Given the description of an element on the screen output the (x, y) to click on. 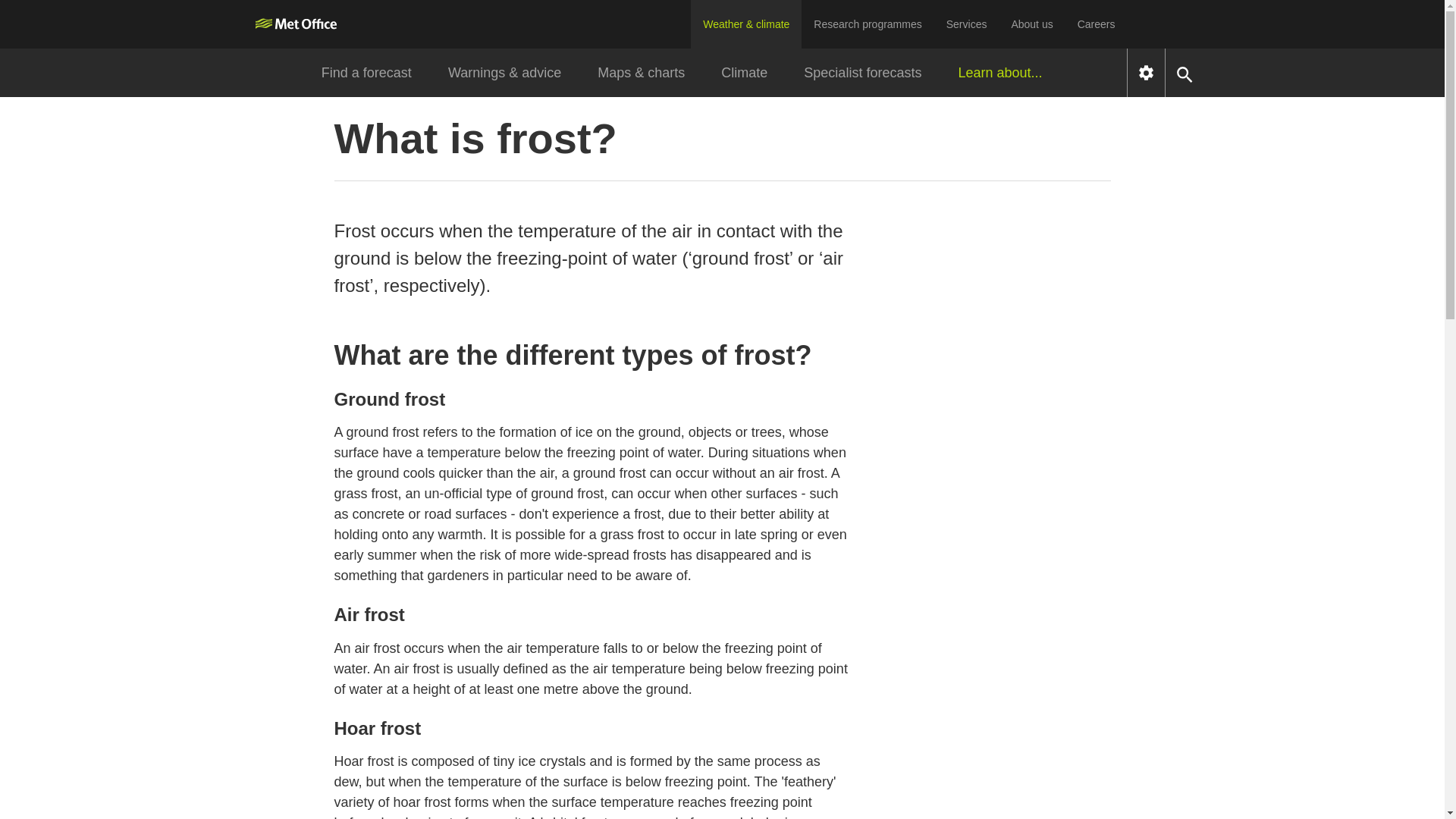
Climate (744, 72)
About us (1031, 24)
Find a forecast (365, 72)
Services (966, 24)
Expand search (1184, 73)
Research programmes (867, 24)
Settings (1145, 72)
Careers (1095, 24)
